Given the description of an element on the screen output the (x, y) to click on. 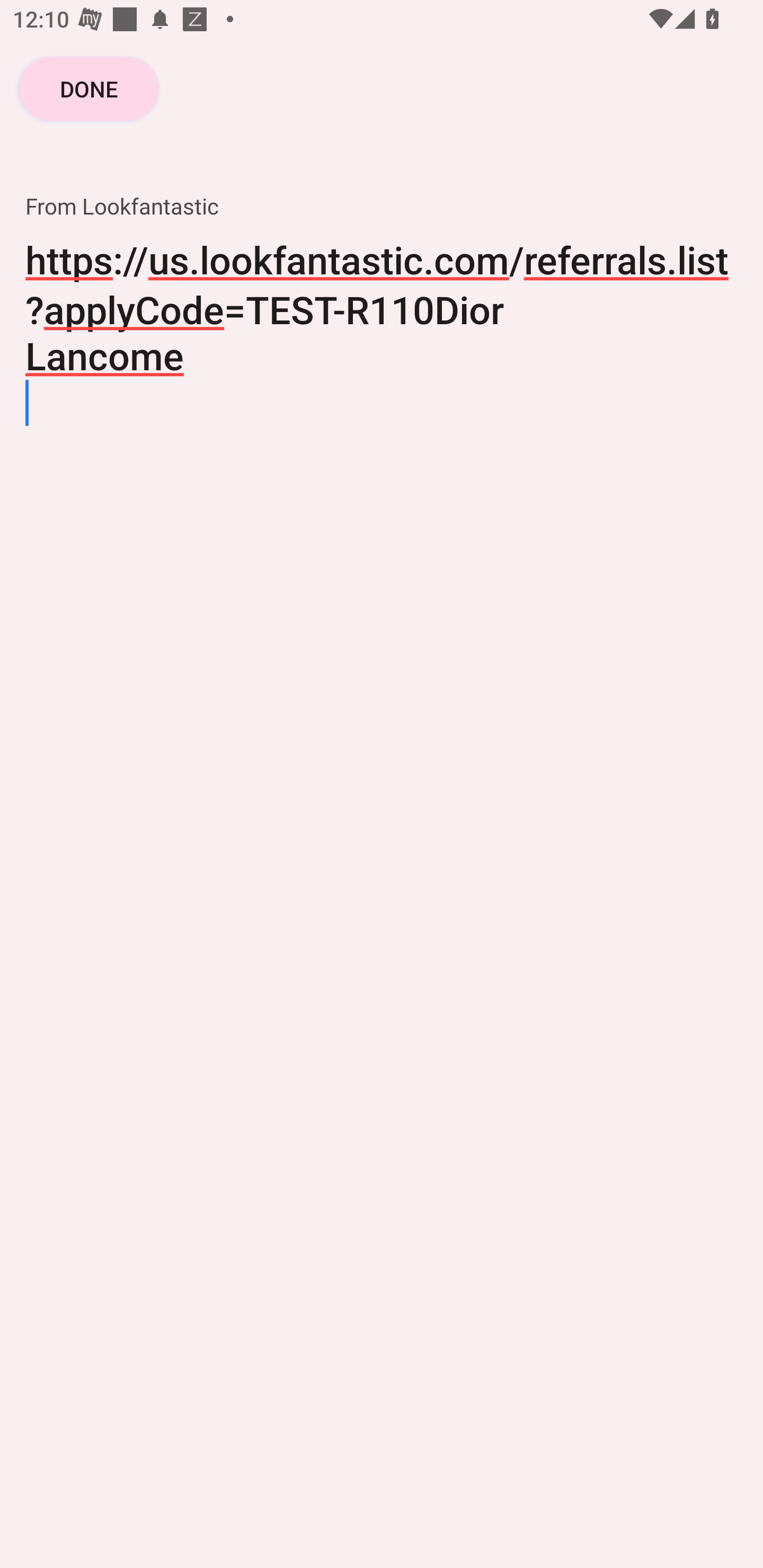
DONE (88, 88)
